Given the description of an element on the screen output the (x, y) to click on. 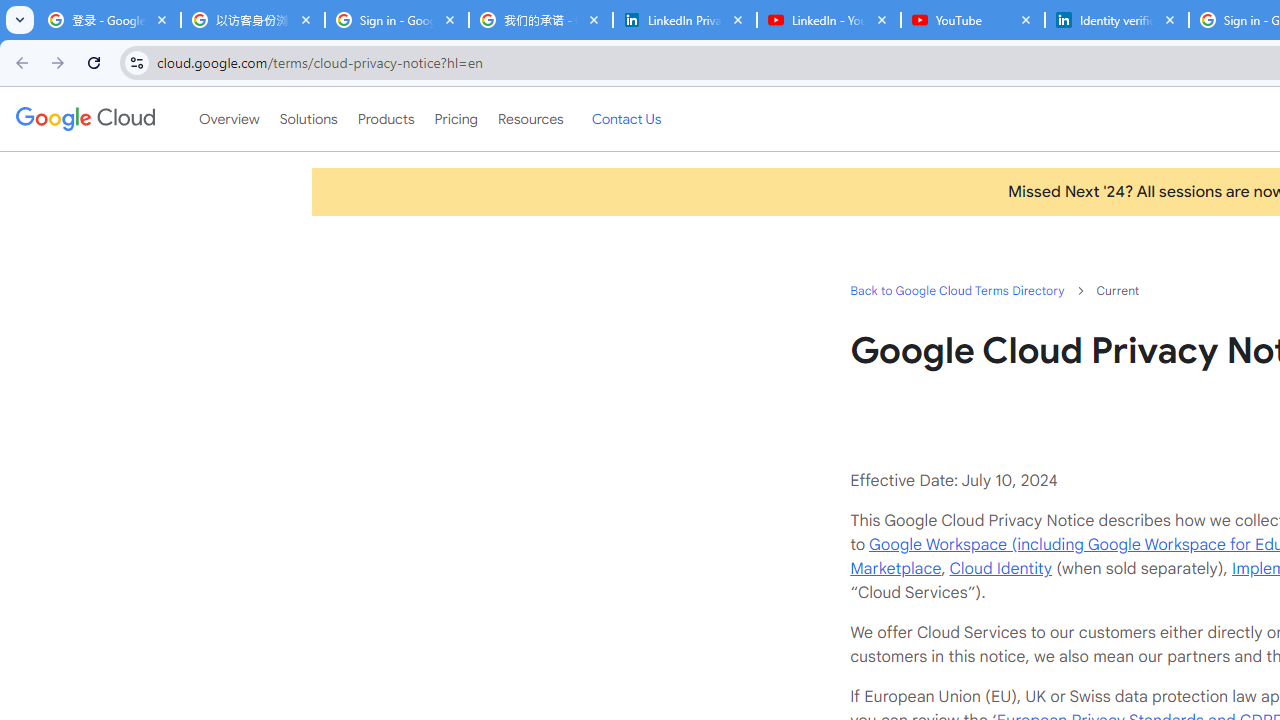
YouTube (972, 20)
Solutions (308, 119)
Contact Us (626, 119)
Pricing (455, 119)
Products (385, 119)
Google Cloud (84, 118)
